Given the description of an element on the screen output the (x, y) to click on. 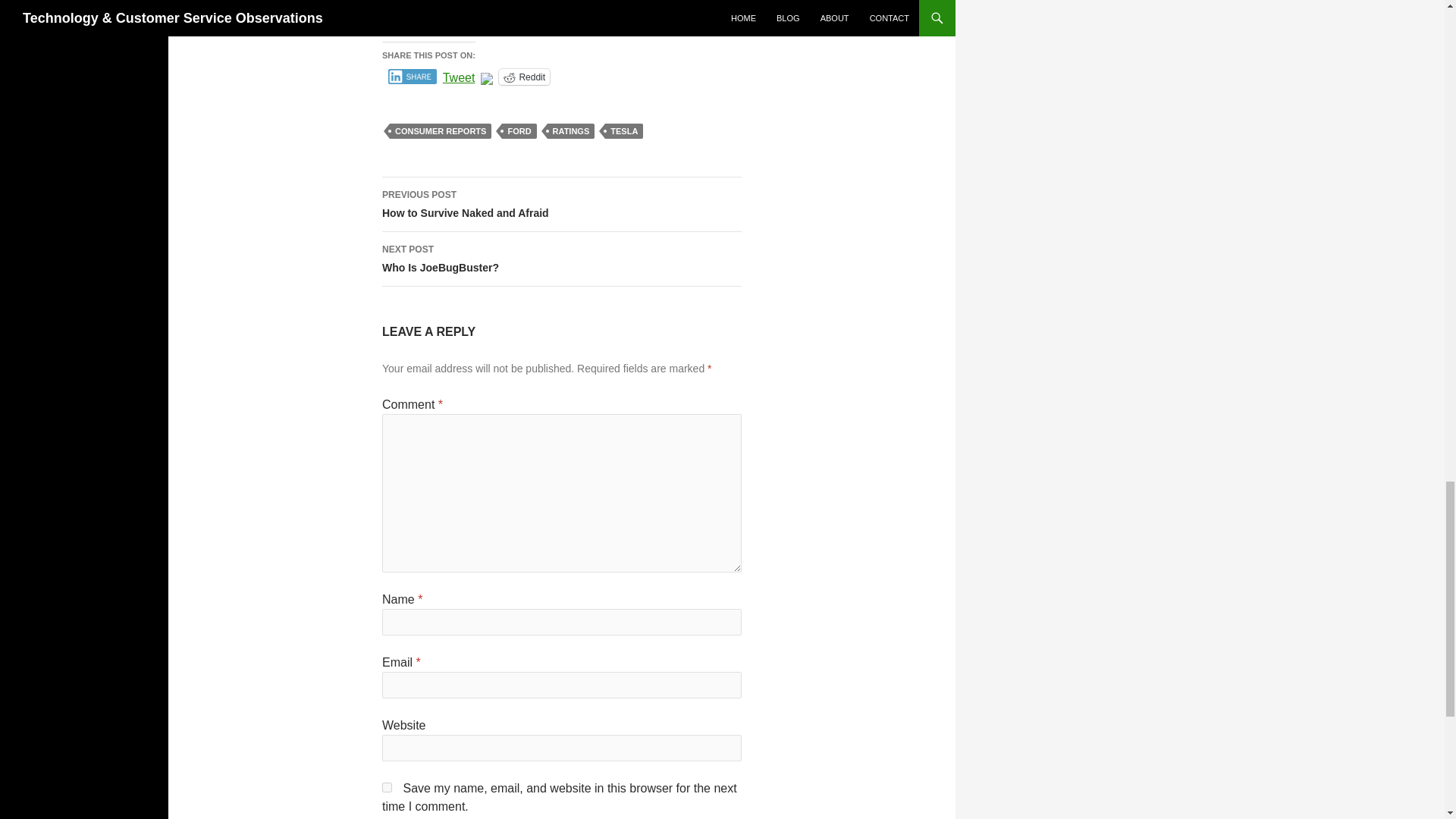
FORD (518, 130)
TESLA (624, 130)
yes (386, 787)
SHARE (412, 76)
Click to share on Reddit (561, 258)
CONSUMER REPORTS (524, 76)
Tweet (441, 130)
Reddit (561, 204)
RATINGS (459, 75)
